Given the description of an element on the screen output the (x, y) to click on. 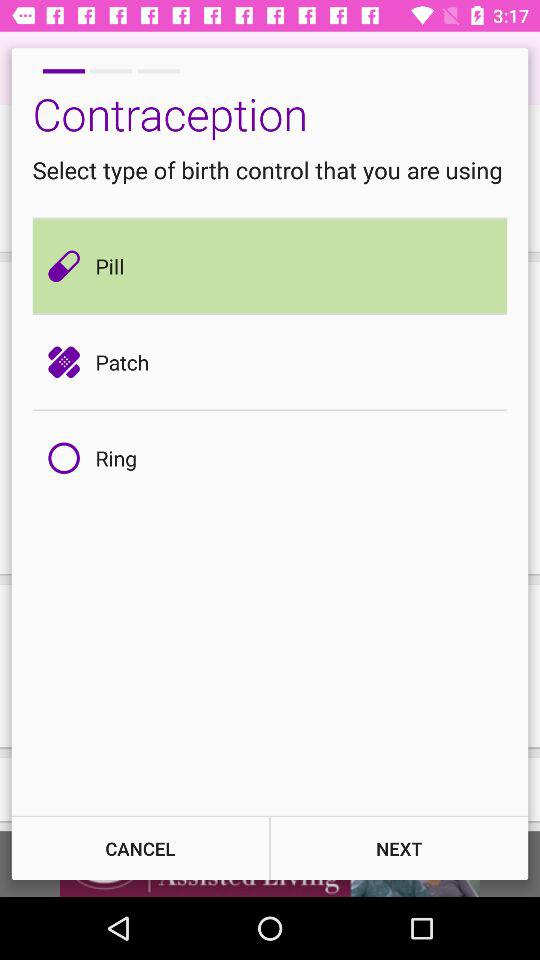
open the icon at the bottom left corner (140, 848)
